Given the description of an element on the screen output the (x, y) to click on. 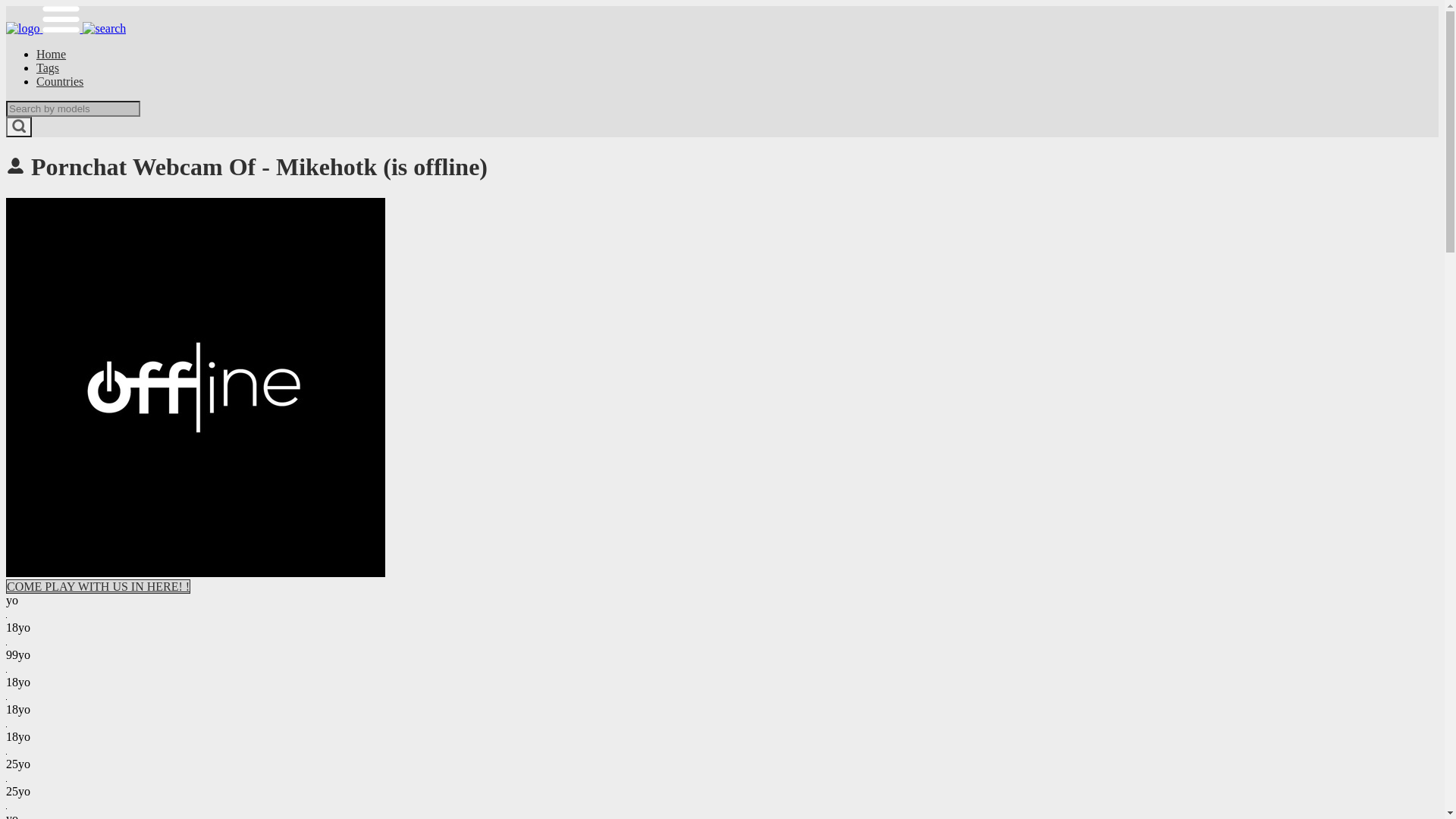
Tags Element type: text (47, 67)
Countries Element type: text (59, 81)
COME PLAY WITH US IN HERE! ! Element type: text (98, 586)
Home Element type: text (50, 53)
